Given the description of an element on the screen output the (x, y) to click on. 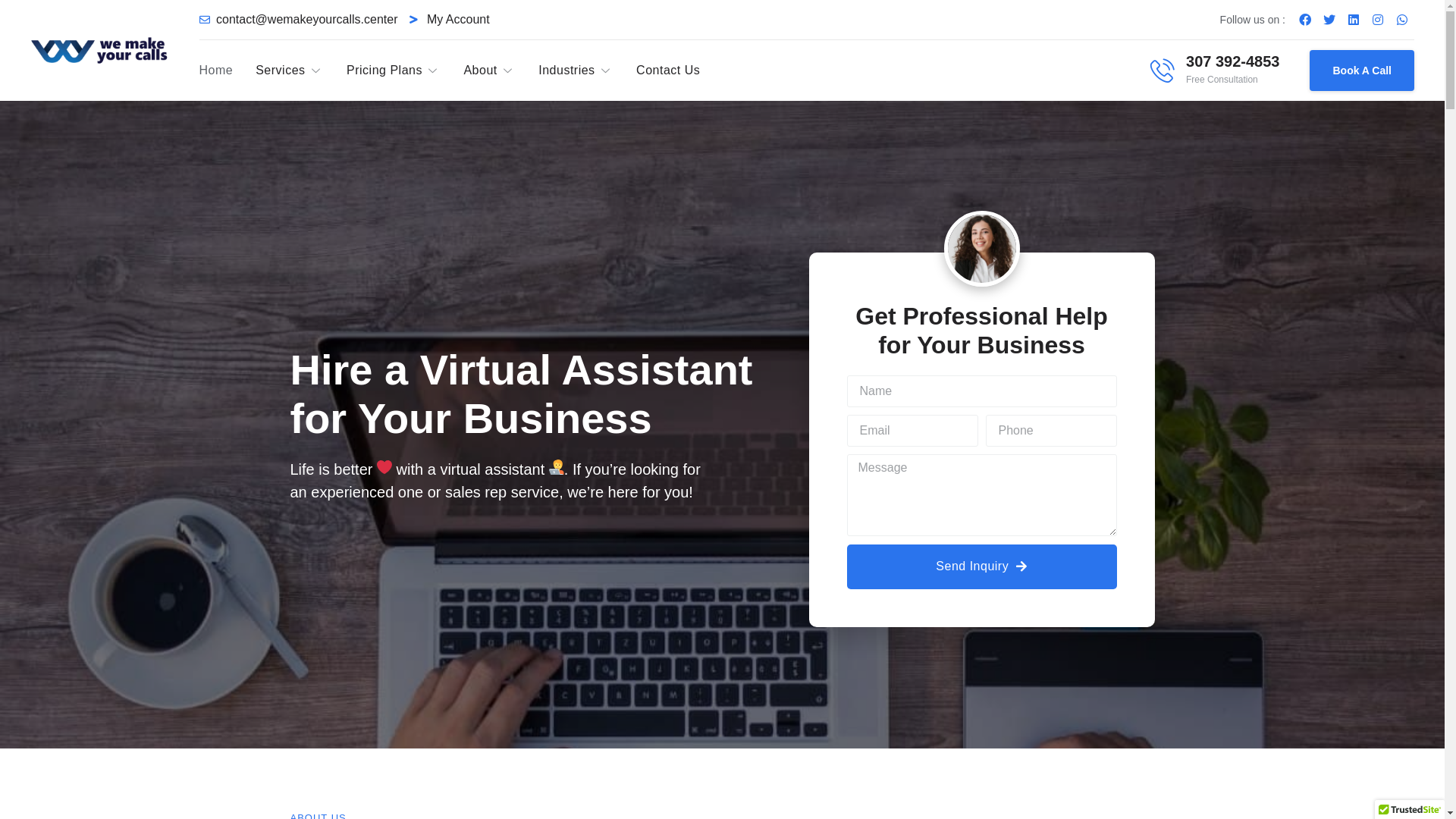
307 392-4853 Element type: text (1232, 61)
Book A Call Element type: text (1361, 70)
My Account Element type: text (449, 19)
About Element type: text (500, 70)
We Make Your Calls Element type: hover (556, 466)
Pricing Plans Element type: text (404, 70)
contact@wemakeyourcalls.center Element type: text (297, 19)
Home Element type: text (226, 70)
Contact Us Element type: text (679, 70)
We Make Your Calls Element type: hover (981, 248)
Send Inquiry Element type: text (981, 566)
Services Element type: text (300, 70)
Industries Element type: text (587, 70)
We Make Your Calls Element type: hover (384, 466)
